Given the description of an element on the screen output the (x, y) to click on. 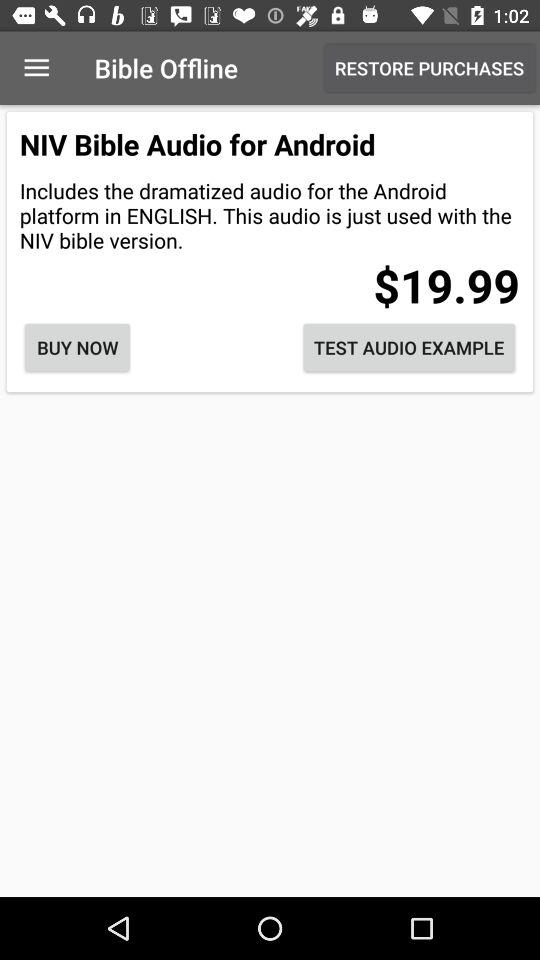
launch item next to the bible offline (36, 68)
